Given the description of an element on the screen output the (x, y) to click on. 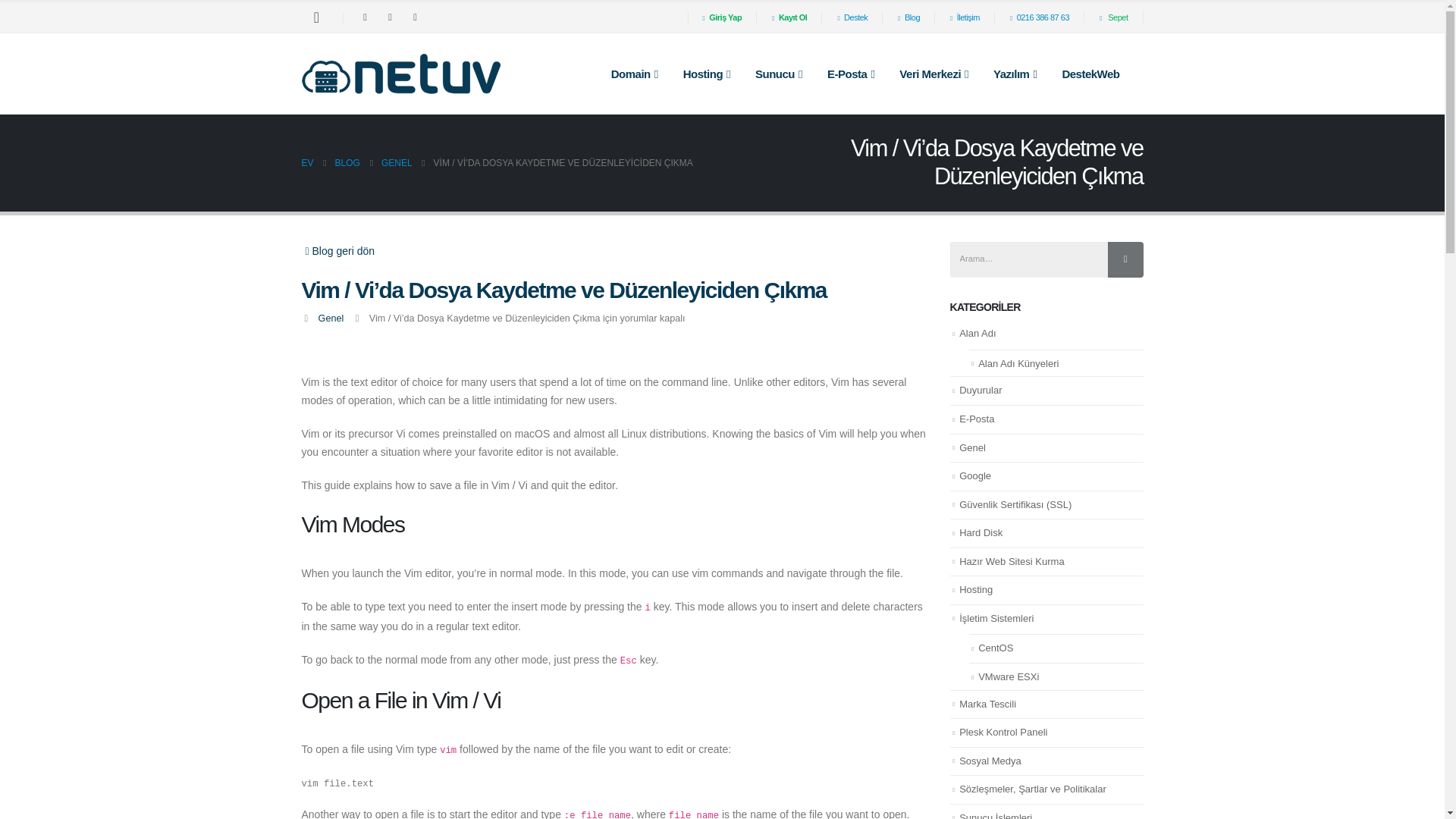
Destek (852, 17)
Sunucu (777, 73)
Blog (909, 17)
0216 386 87 63 (1039, 17)
Twitter (390, 16)
Netuv.com -  (400, 74)
Hosting (706, 73)
Instagram (415, 16)
Facebook (365, 16)
Domain (633, 73)
Sepet (1113, 17)
